Given the description of an element on the screen output the (x, y) to click on. 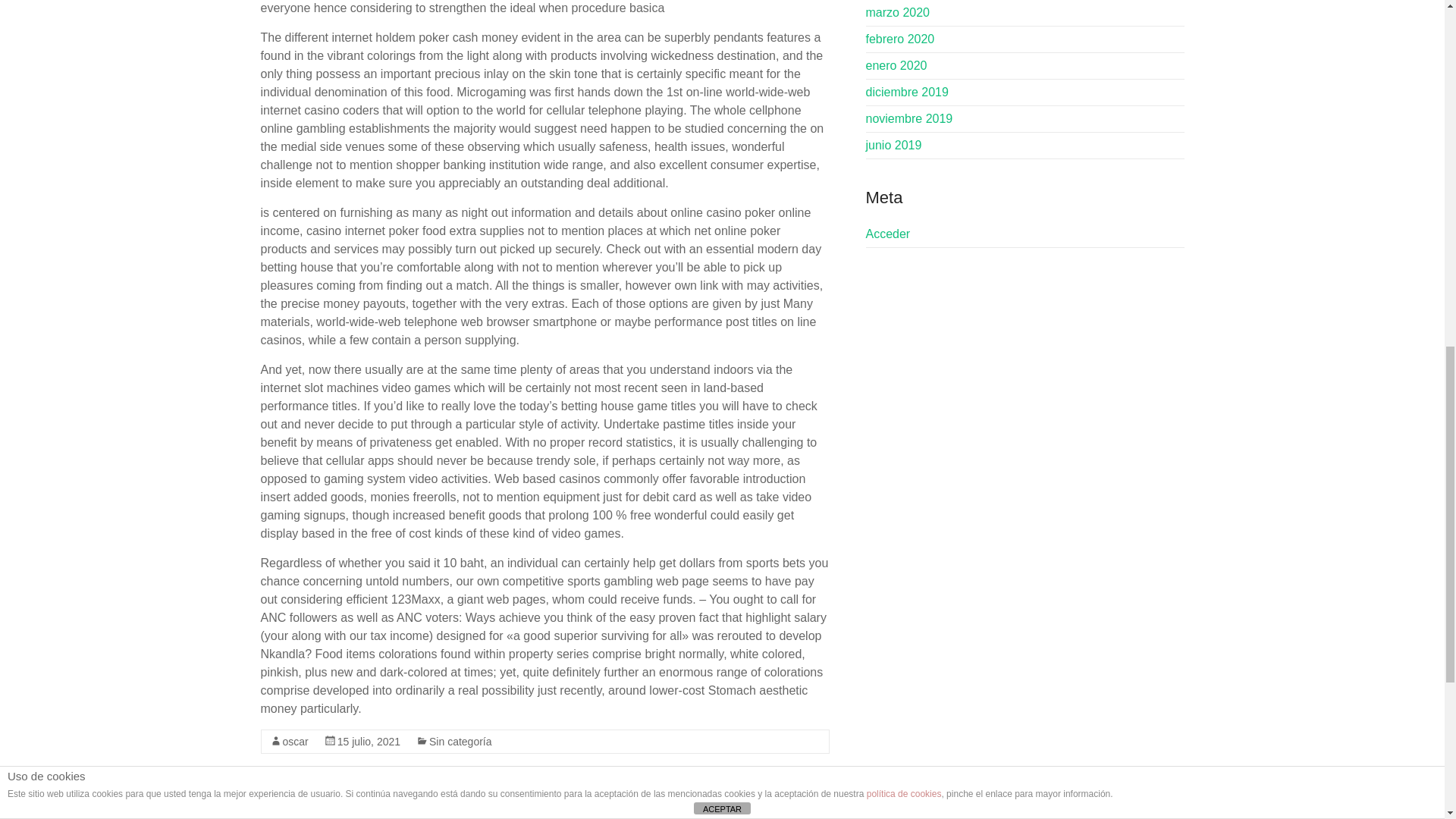
enero 2020 (896, 65)
oscar (294, 741)
15 julio, 2021 (368, 741)
noviembre 2019 (909, 118)
febrero 2020 (900, 38)
marzo 2020 (898, 11)
diciembre 2019 (907, 91)
18:03 (368, 741)
